Given the description of an element on the screen output the (x, y) to click on. 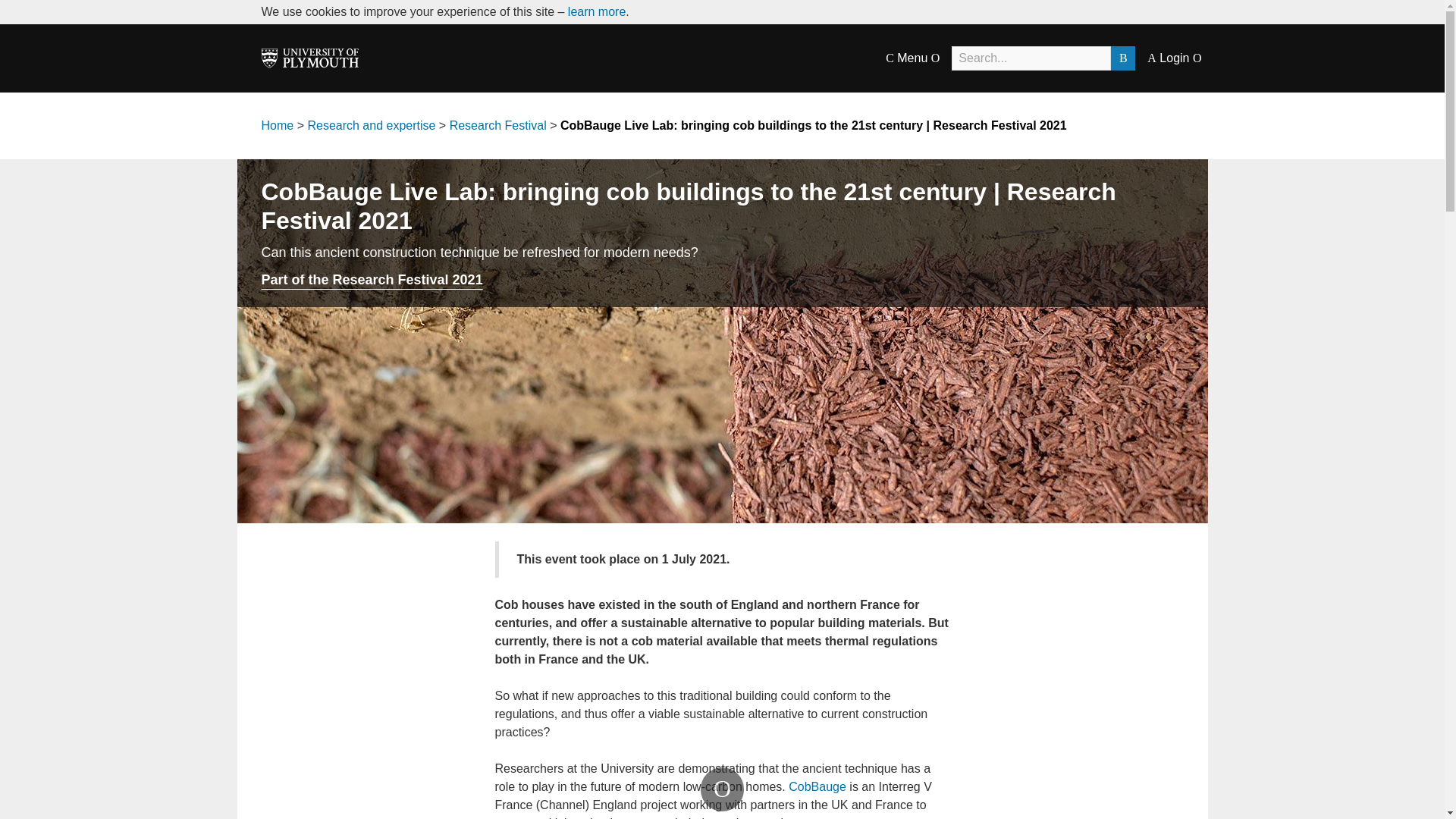
C Menu O (911, 58)
learn more (596, 11)
B (1122, 57)
A Login O (1174, 58)
